Given the description of an element on the screen output the (x, y) to click on. 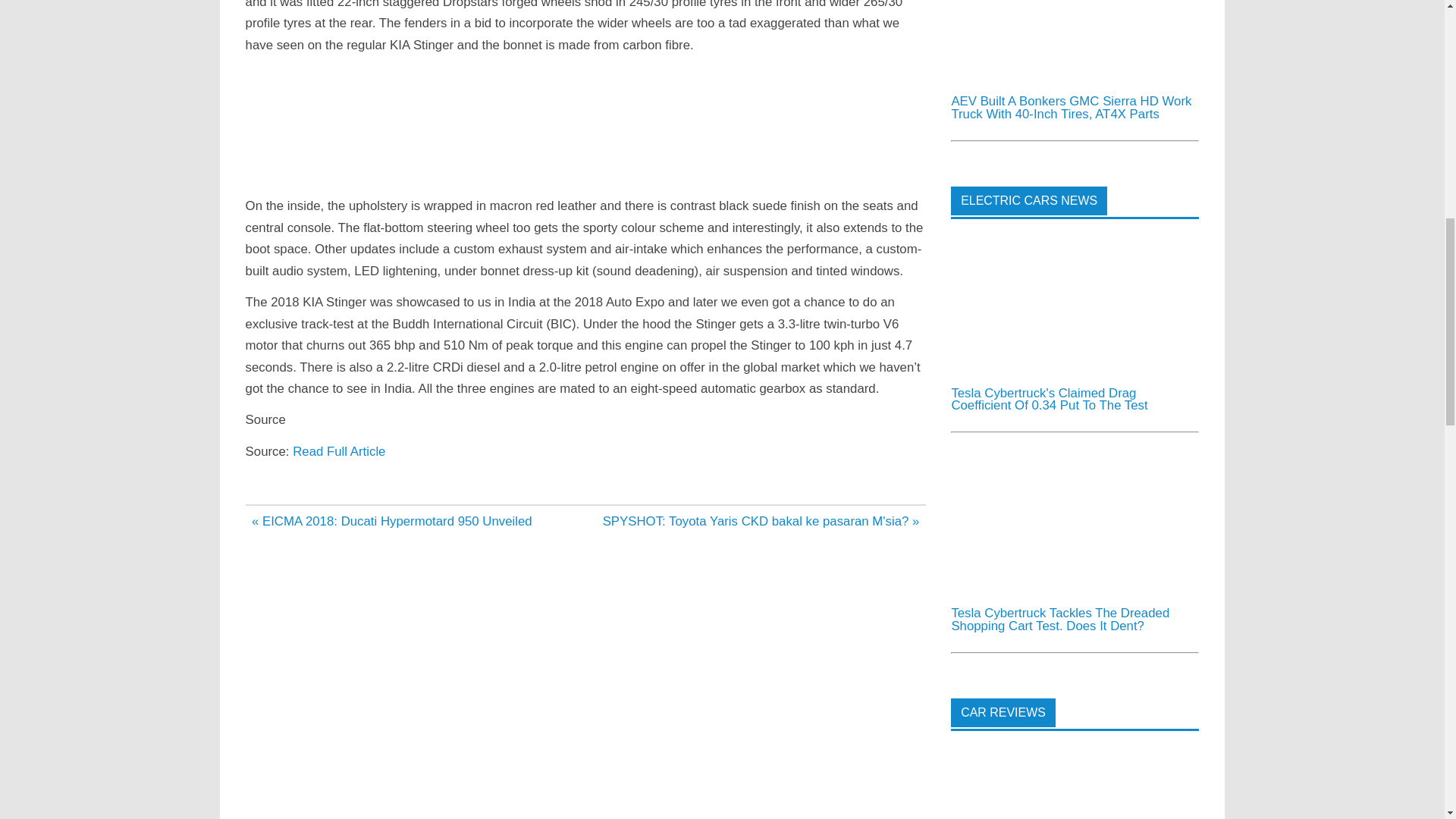
Read Full Article (338, 451)
